Given the description of an element on the screen output the (x, y) to click on. 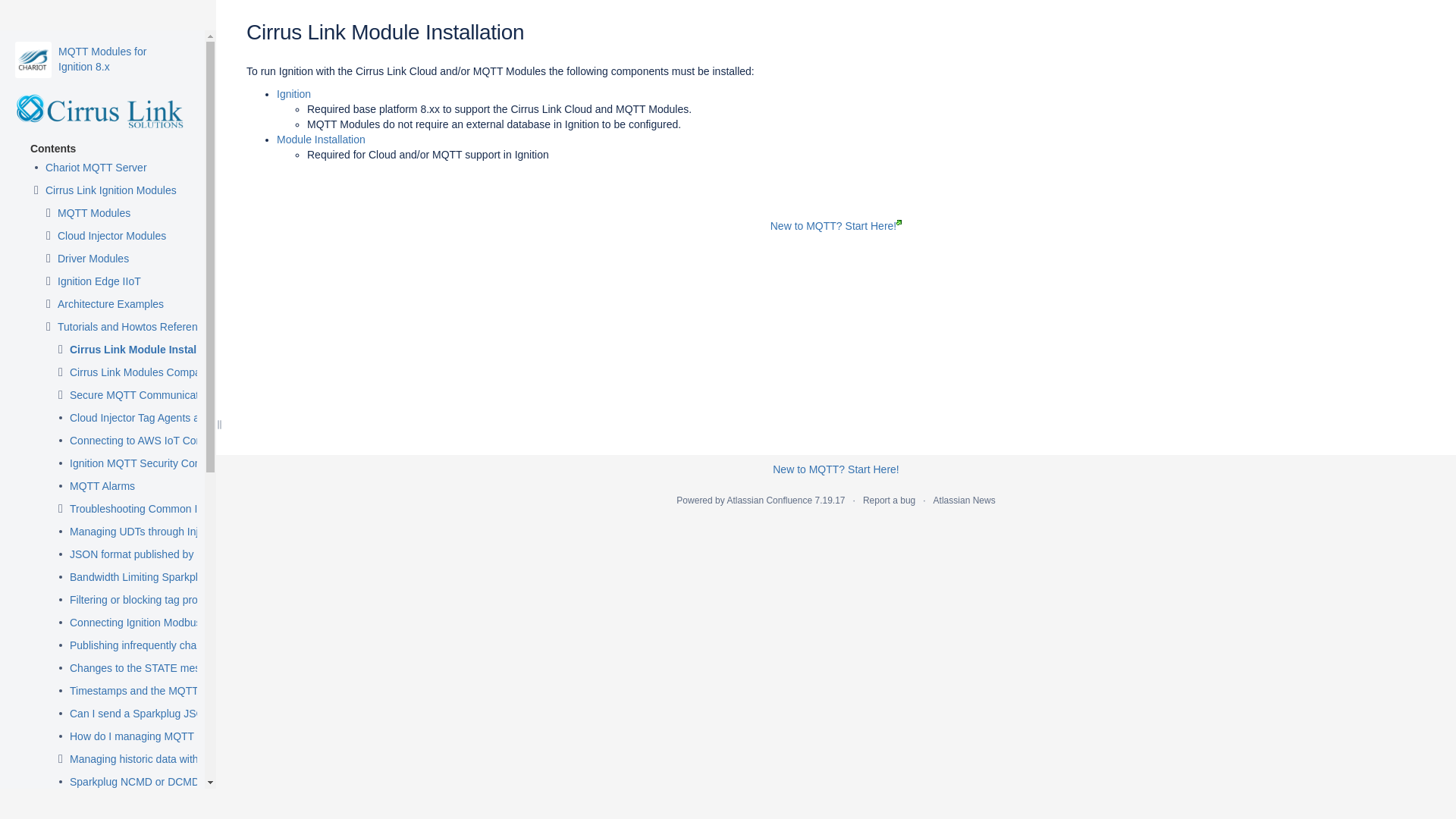
Cirrus Link Ignition Modules (110, 191)
MQTT Modules for Ignition 8.x (102, 58)
Cirrus Link Module Installation (147, 350)
MQTT Modules for Ignition 8.x (32, 59)
Cirrus Link Modules Compatibility (148, 372)
Tutorials and Howtos Reference (133, 327)
MQTT Modules (94, 213)
Cloud Injector Modules (111, 236)
Cloud Injector Tag Agents and Tag Trees (164, 418)
Architecture Examples (110, 304)
